Given the description of an element on the screen output the (x, y) to click on. 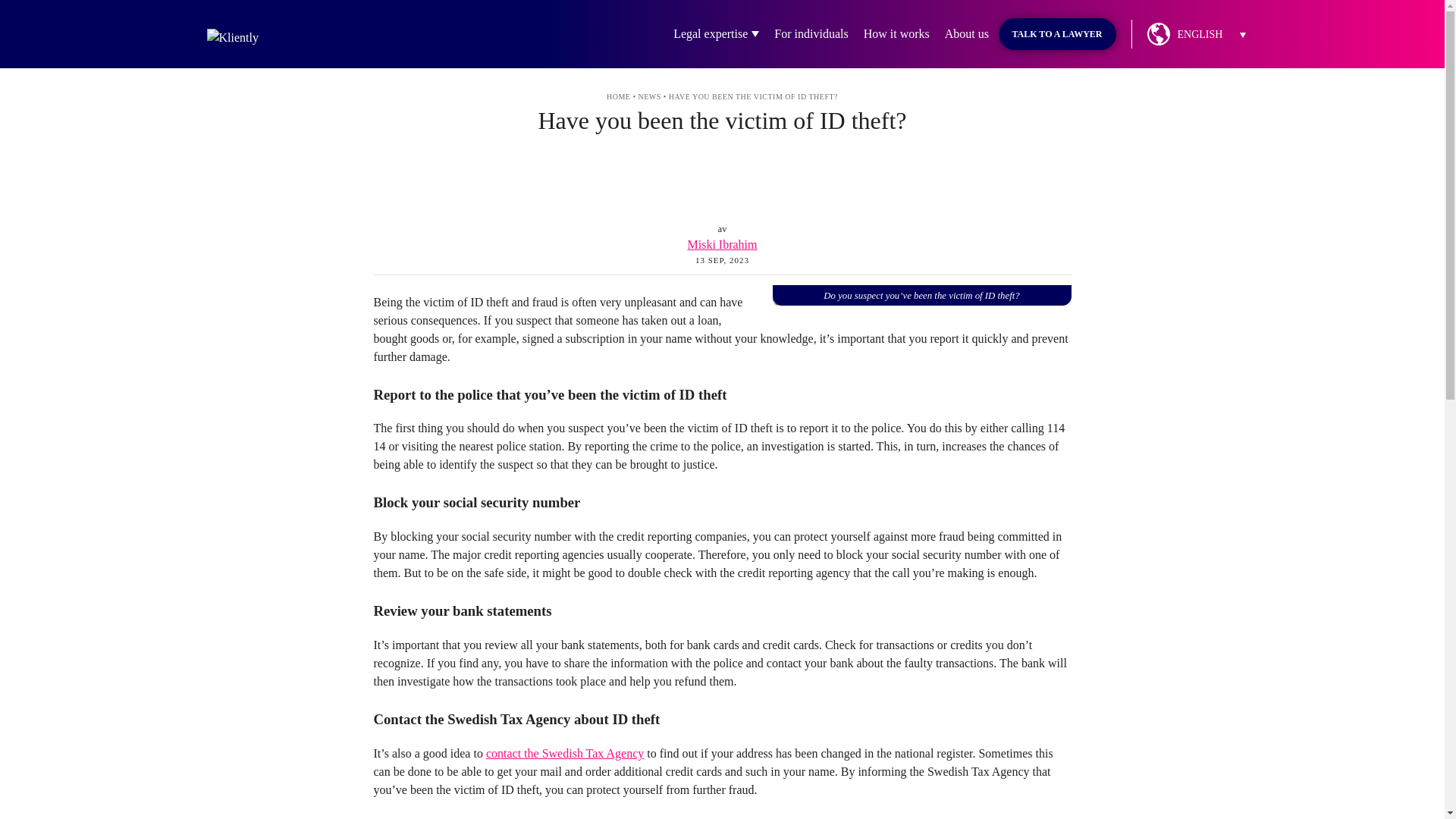
Legal expertise (710, 34)
About us (966, 34)
How it works (896, 34)
Miski Ibrahim (722, 244)
ENGLISH (1210, 34)
NEWS (649, 96)
For individuals (810, 34)
TALK TO A LAWYER (1056, 33)
HOME (618, 96)
contact the Swedish Tax Agency (564, 753)
